Given the description of an element on the screen output the (x, y) to click on. 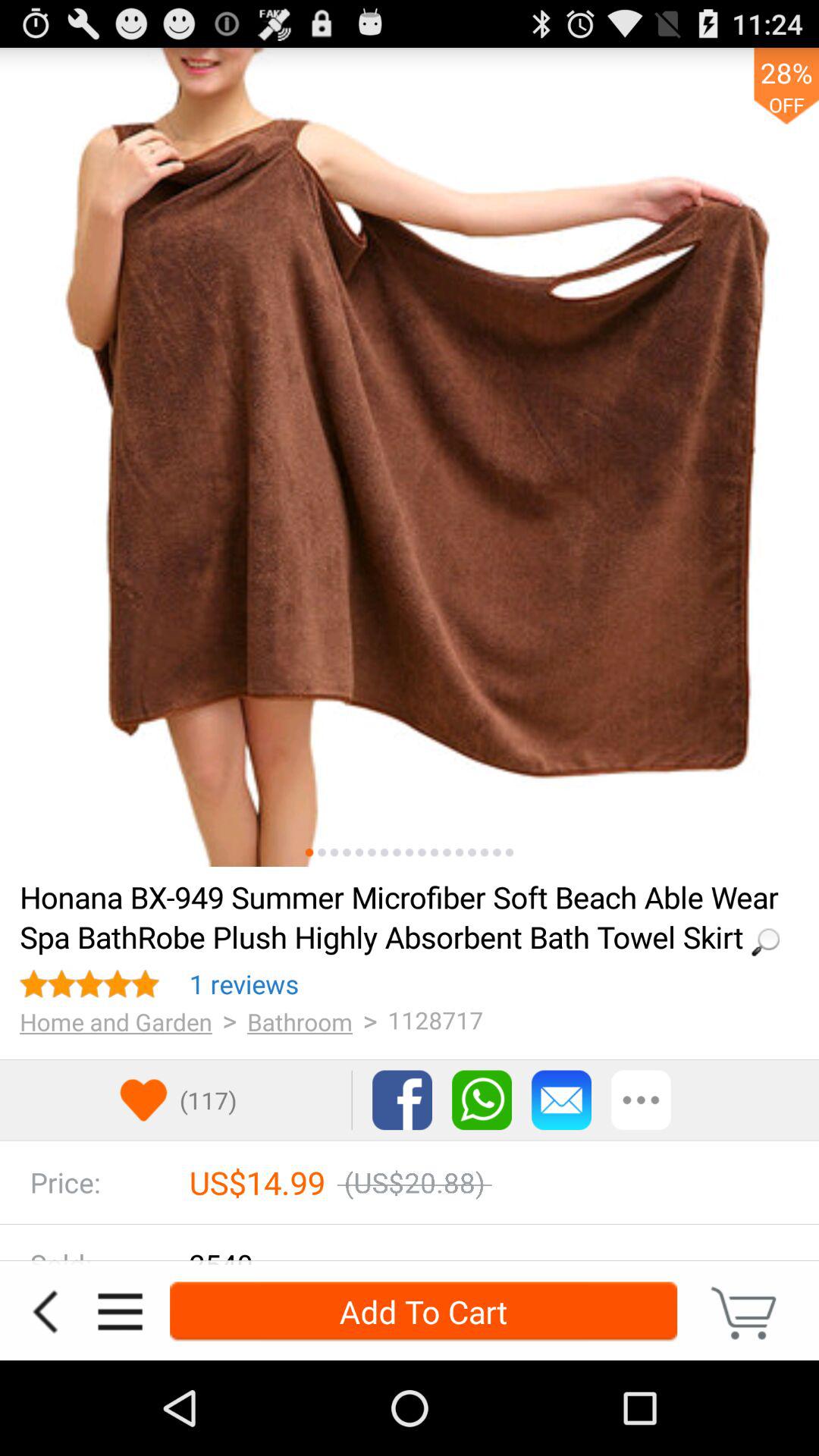
open menu (120, 1311)
